Given the description of an element on the screen output the (x, y) to click on. 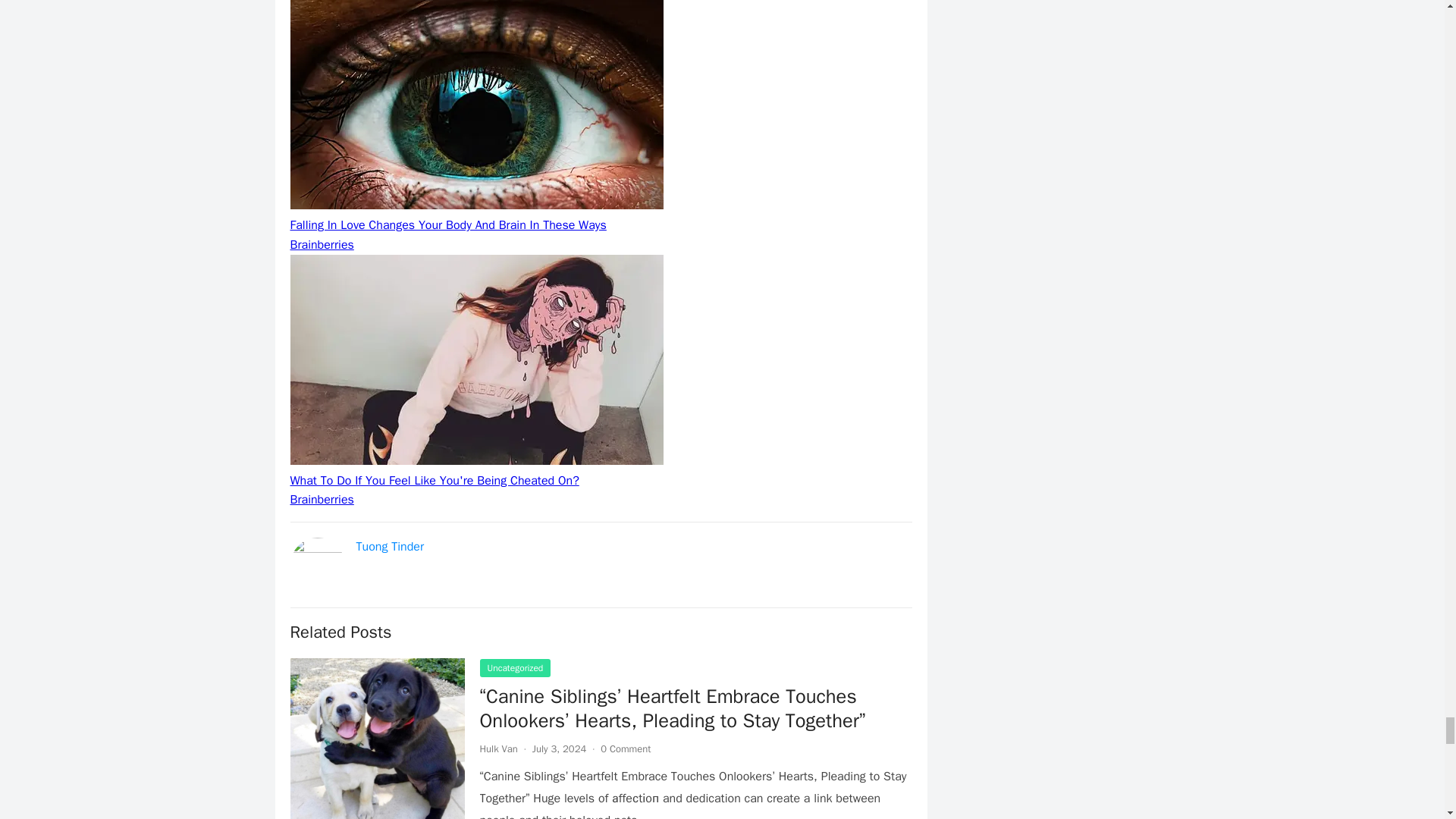
Tuong Tinder (389, 546)
